Given the description of an element on the screen output the (x, y) to click on. 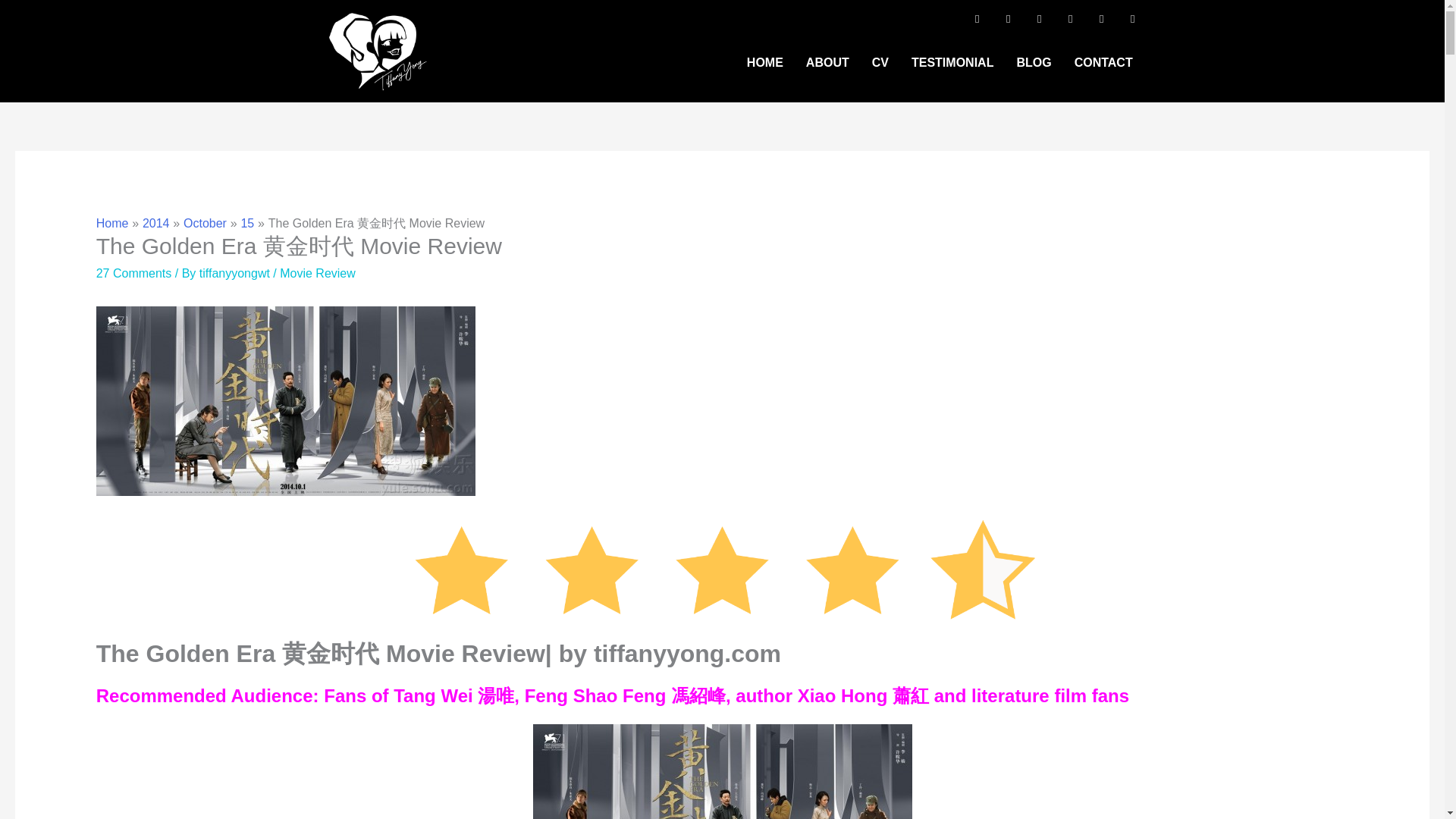
CV (879, 62)
2014 (156, 223)
BLOG (1033, 62)
15 (246, 223)
October (205, 223)
TESTIMONIAL (951, 62)
ABOUT (827, 62)
27 Comments (133, 273)
View all posts by tiffanyyongwt (236, 273)
Home (112, 223)
HOME (764, 62)
CONTACT (1103, 62)
Movie Review (317, 273)
tiffanyyongwt (236, 273)
